Given the description of an element on the screen output the (x, y) to click on. 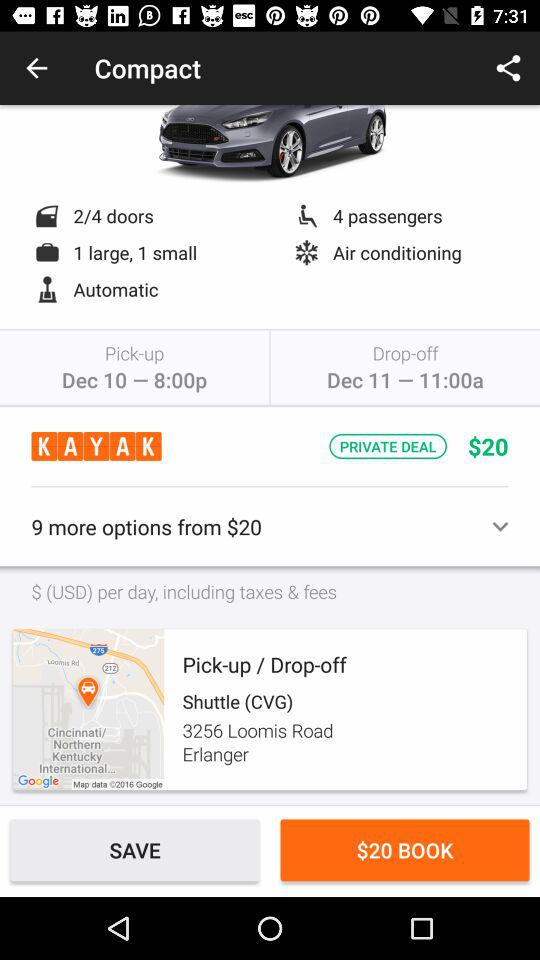
swipe until $20 book (404, 850)
